Given the description of an element on the screen output the (x, y) to click on. 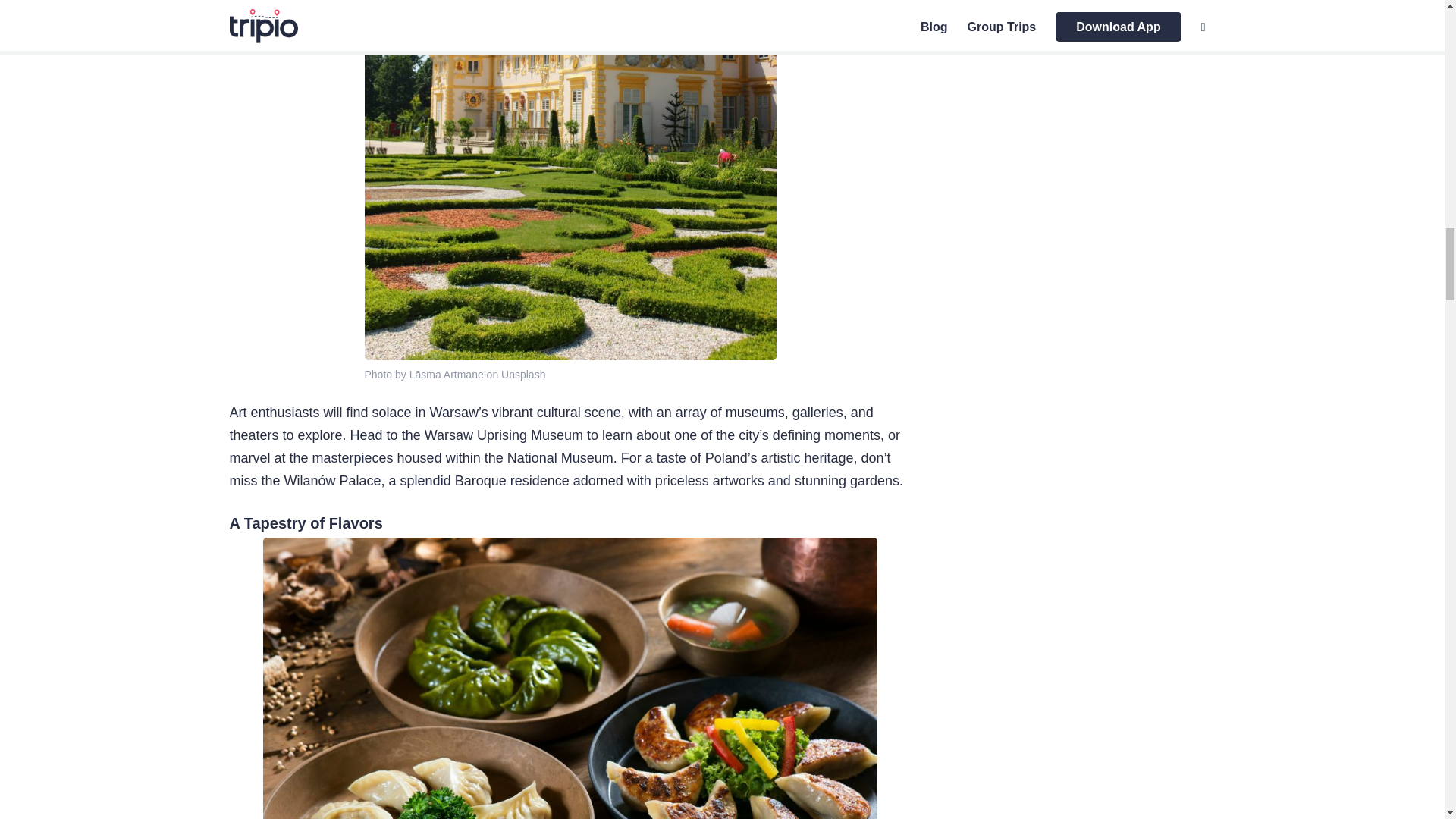
A Tapestry of Flavors (304, 523)
